Given the description of an element on the screen output the (x, y) to click on. 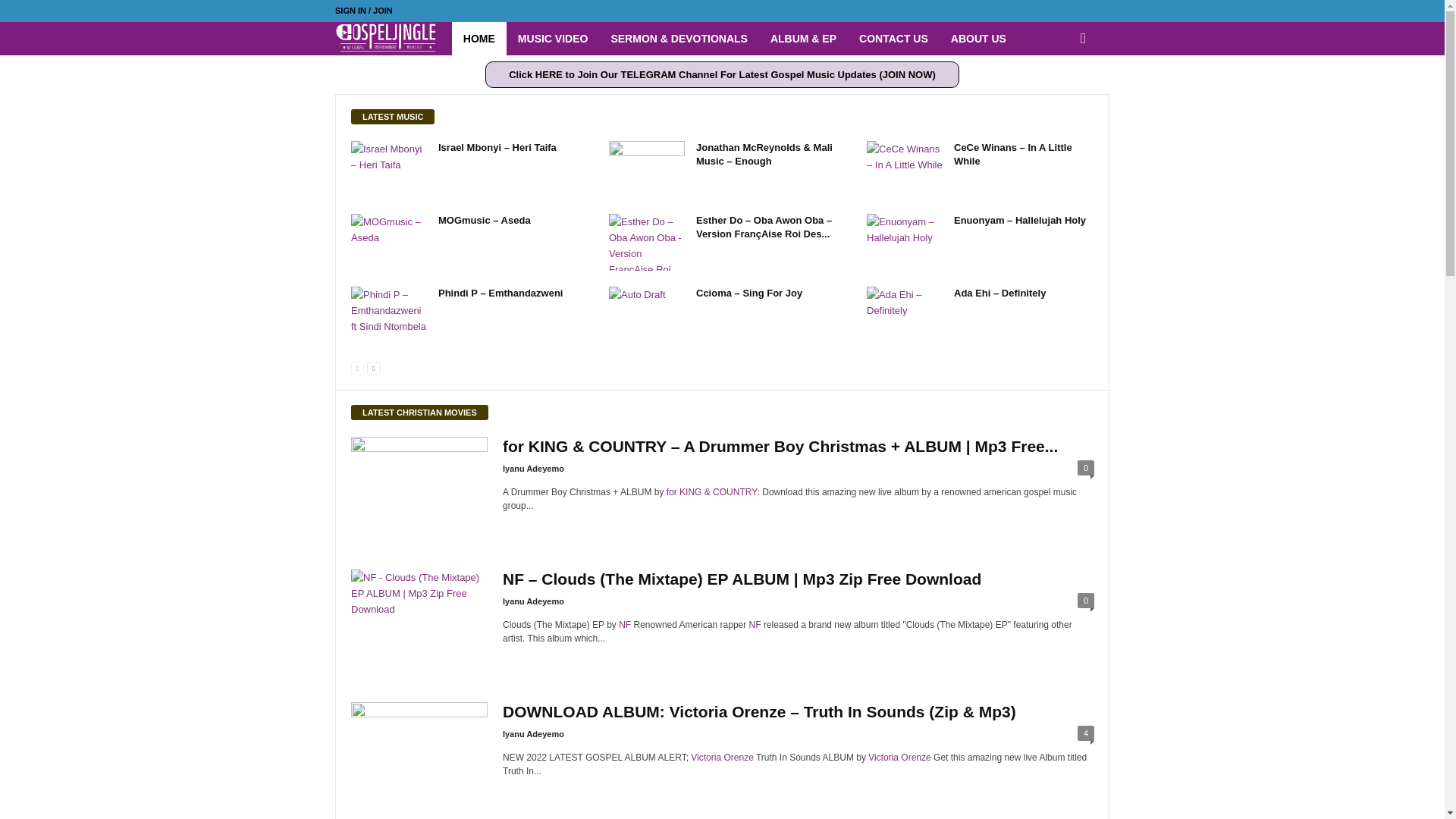
GospelJingle (392, 39)
HOME (478, 38)
ABOUT US (978, 38)
LATEST MUSIC (391, 116)
CONTACT US (893, 38)
MUSIC VIDEO (552, 38)
